Given the description of an element on the screen output the (x, y) to click on. 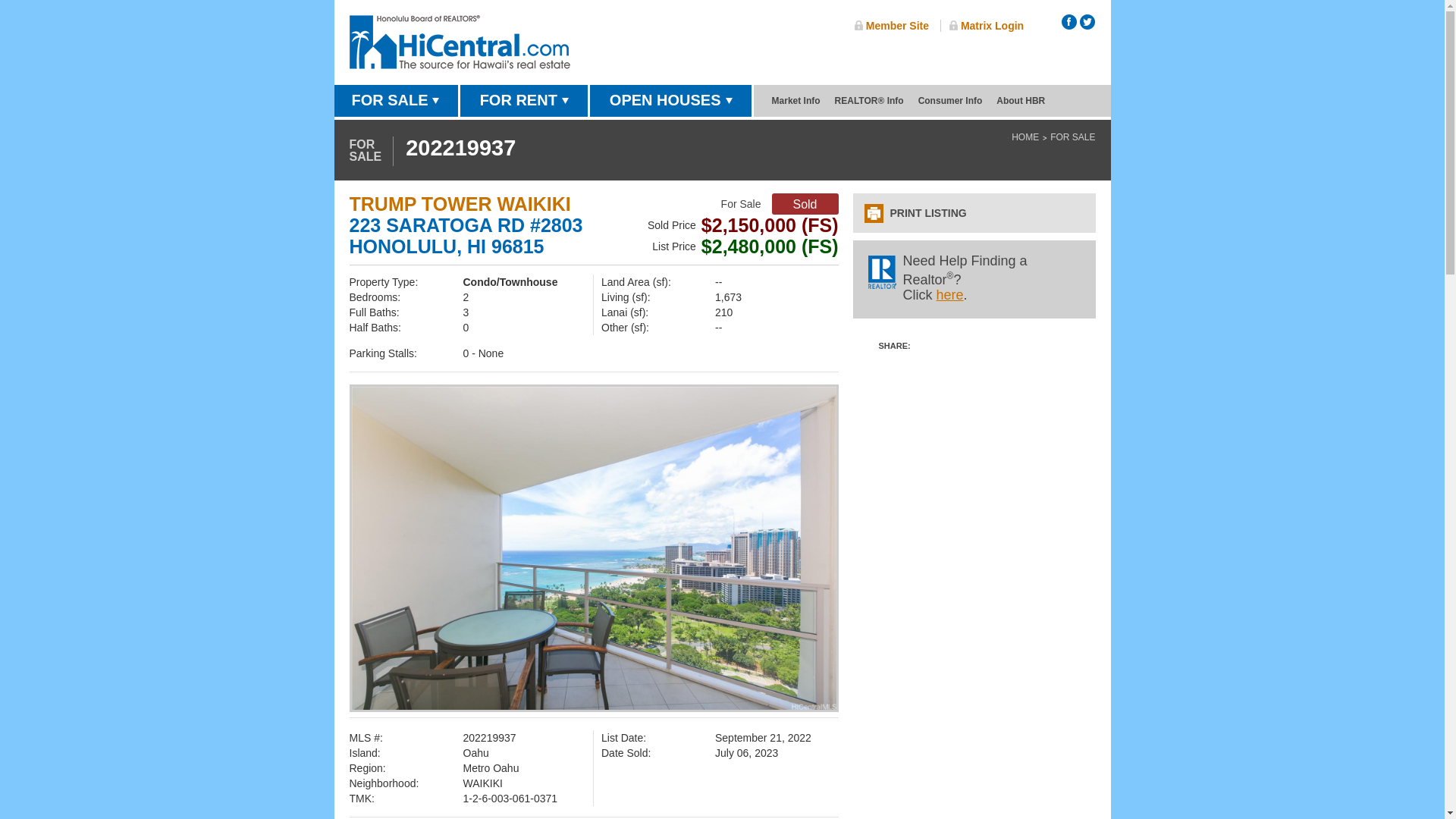
HBR Facebook page (1069, 21)
Member Site (891, 25)
OPEN HOUSES (670, 102)
FOR RENT (524, 102)
Market Info (796, 100)
Honolulu Board Of Realtors (459, 42)
Matrix Login (986, 25)
FOR SALE (395, 102)
HBR Twitter page (1087, 21)
